Given the description of an element on the screen output the (x, y) to click on. 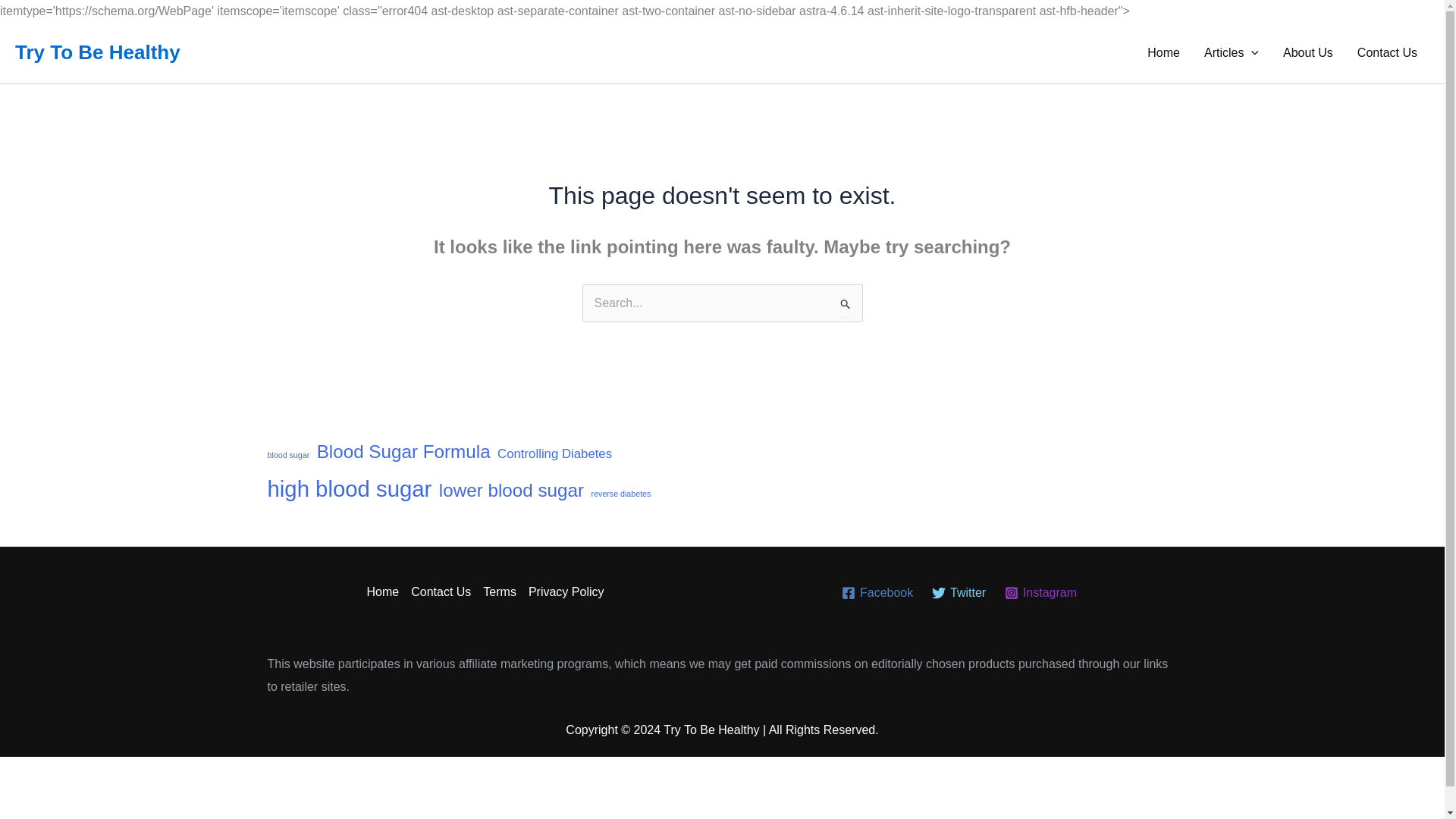
Blood Sugar Formula (403, 451)
Twitter (959, 592)
high blood sugar (348, 488)
lower blood sugar (511, 489)
reverse diabetes (620, 494)
Home (386, 591)
Articles (1231, 52)
Home (1163, 52)
Facebook (877, 592)
Contact Us (440, 591)
About Us (1308, 52)
Privacy Policy (563, 591)
Contact Us (1387, 52)
Controlling Diabetes (554, 454)
Instagram (1040, 592)
